Given the description of an element on the screen output the (x, y) to click on. 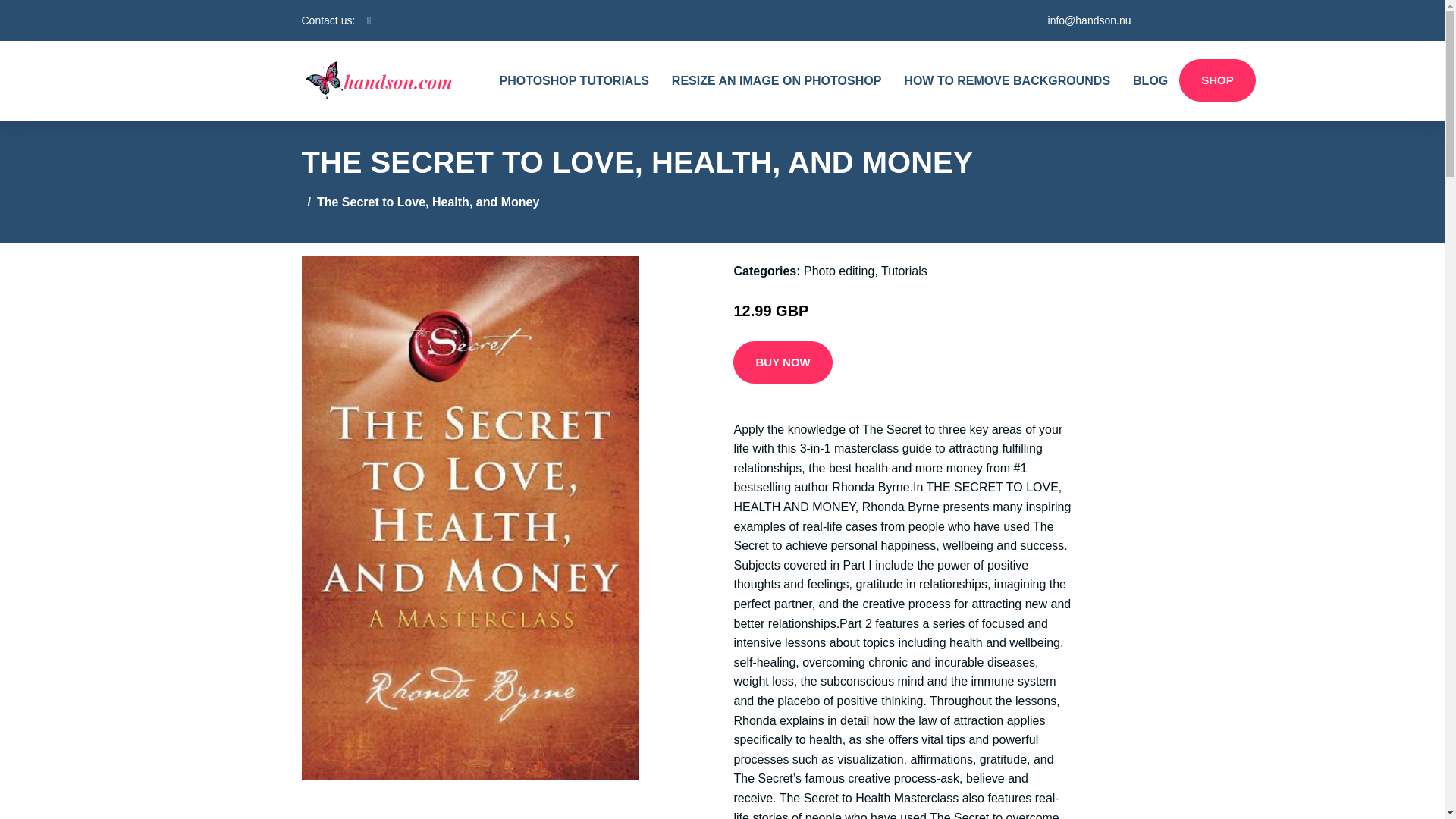
Tutorials (903, 270)
SHOP (1217, 79)
RESIZE AN IMAGE ON PHOTOSHOP (776, 80)
HOW TO REMOVE BACKGROUNDS (1006, 80)
PHOTOSHOP TUTORIALS (574, 80)
BUY NOW (782, 362)
Photo editing (839, 270)
